Given the description of an element on the screen output the (x, y) to click on. 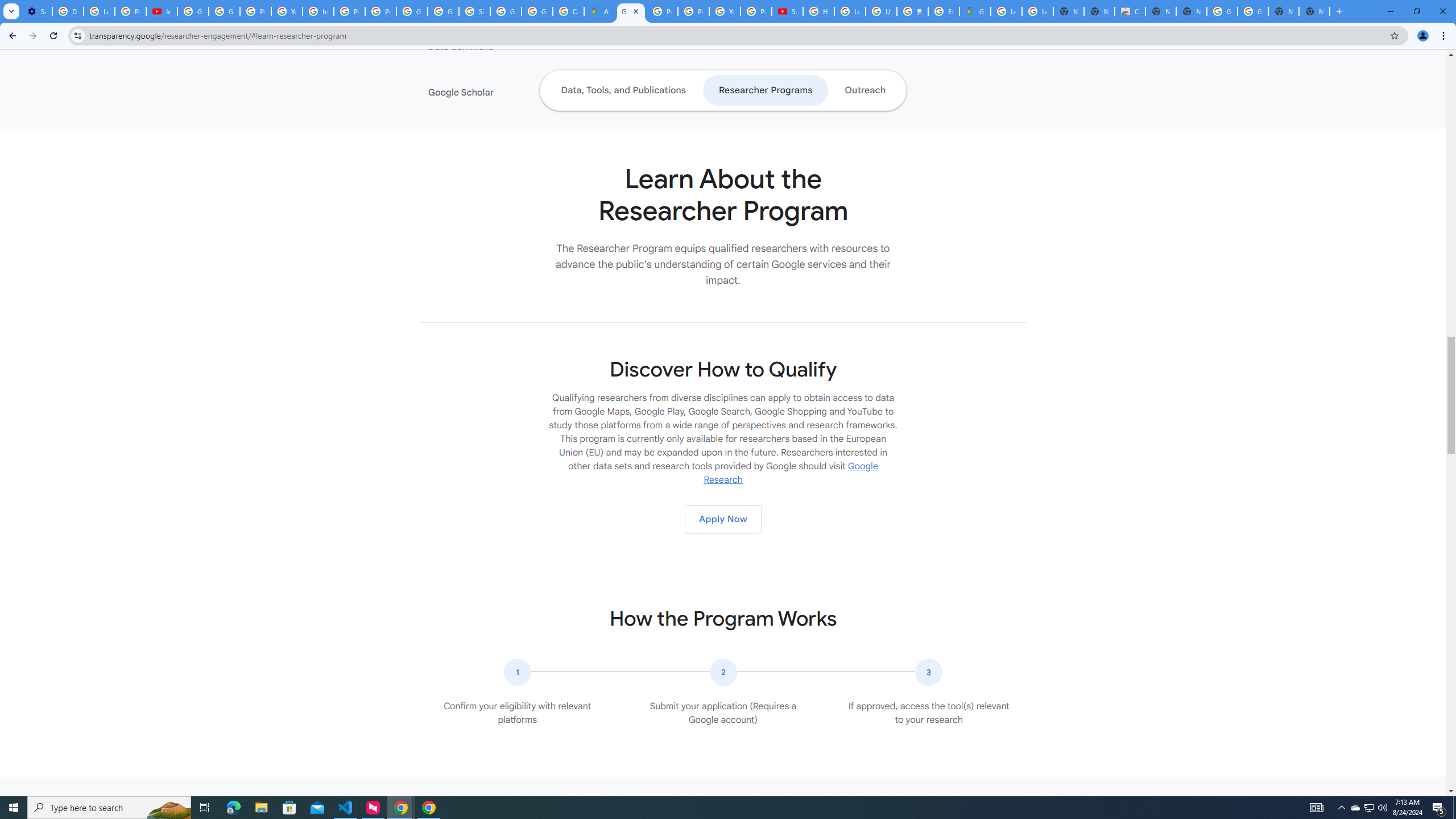
Researcher Programs (764, 90)
Google Scholar (497, 92)
Google Images (1252, 11)
Apply Now (722, 519)
Privacy Help Center - Policies Help (662, 11)
YouTube (286, 11)
The number one in a circular icon. (517, 672)
Google Scholar (497, 92)
